Given the description of an element on the screen output the (x, y) to click on. 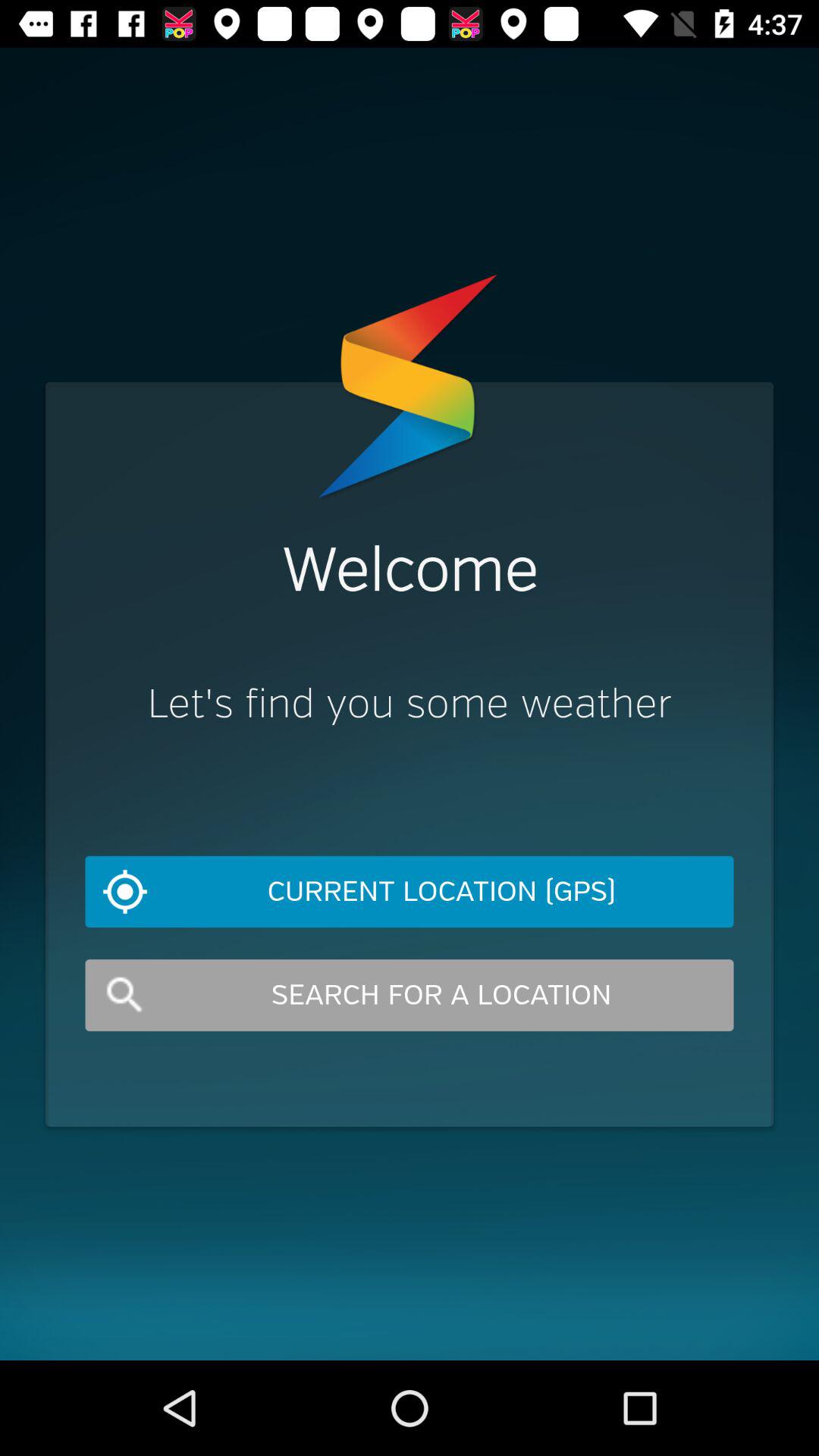
select item below the current location (gps) icon (409, 995)
